Given the description of an element on the screen output the (x, y) to click on. 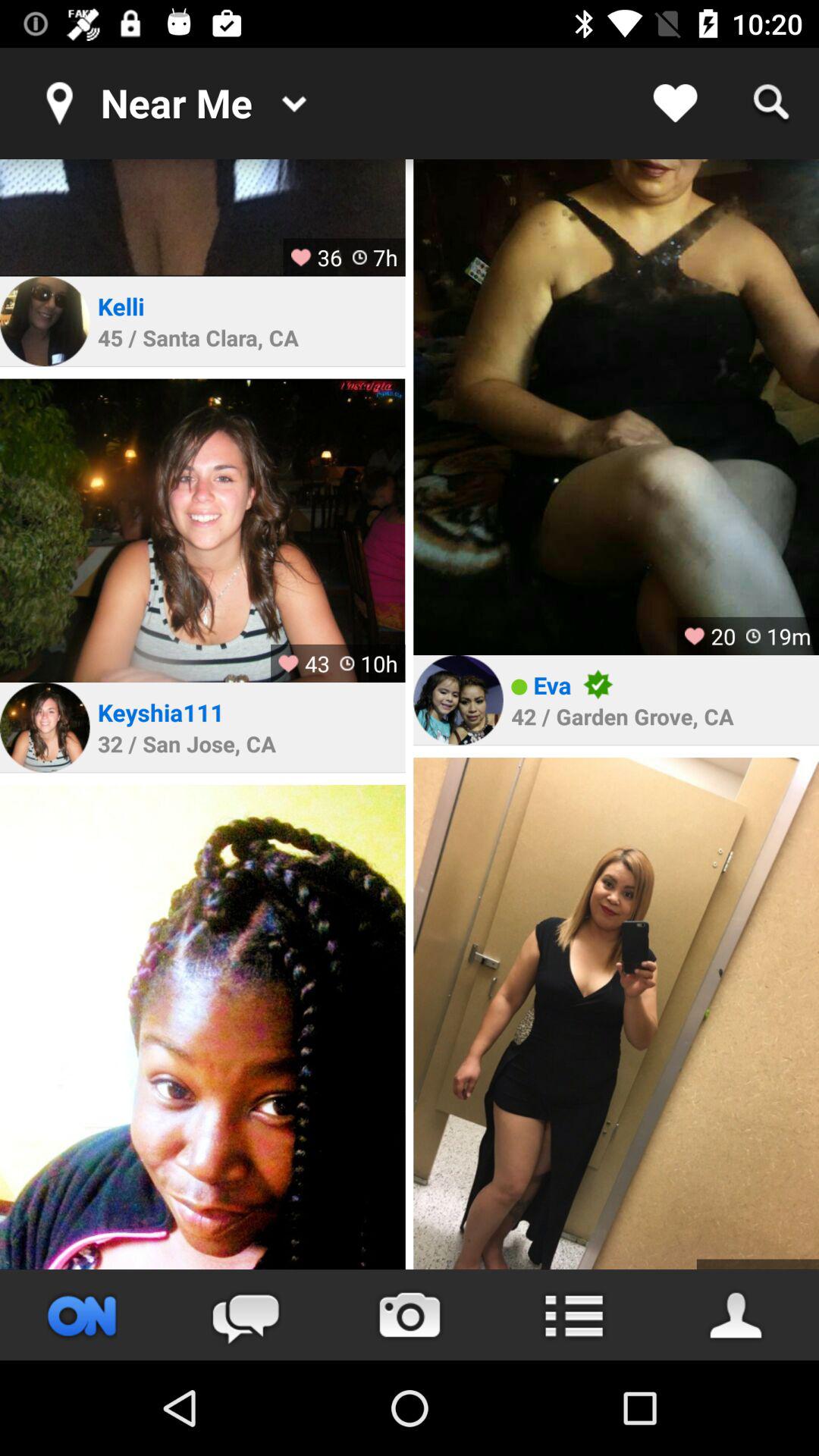
click on the image (616, 407)
